Given the description of an element on the screen output the (x, y) to click on. 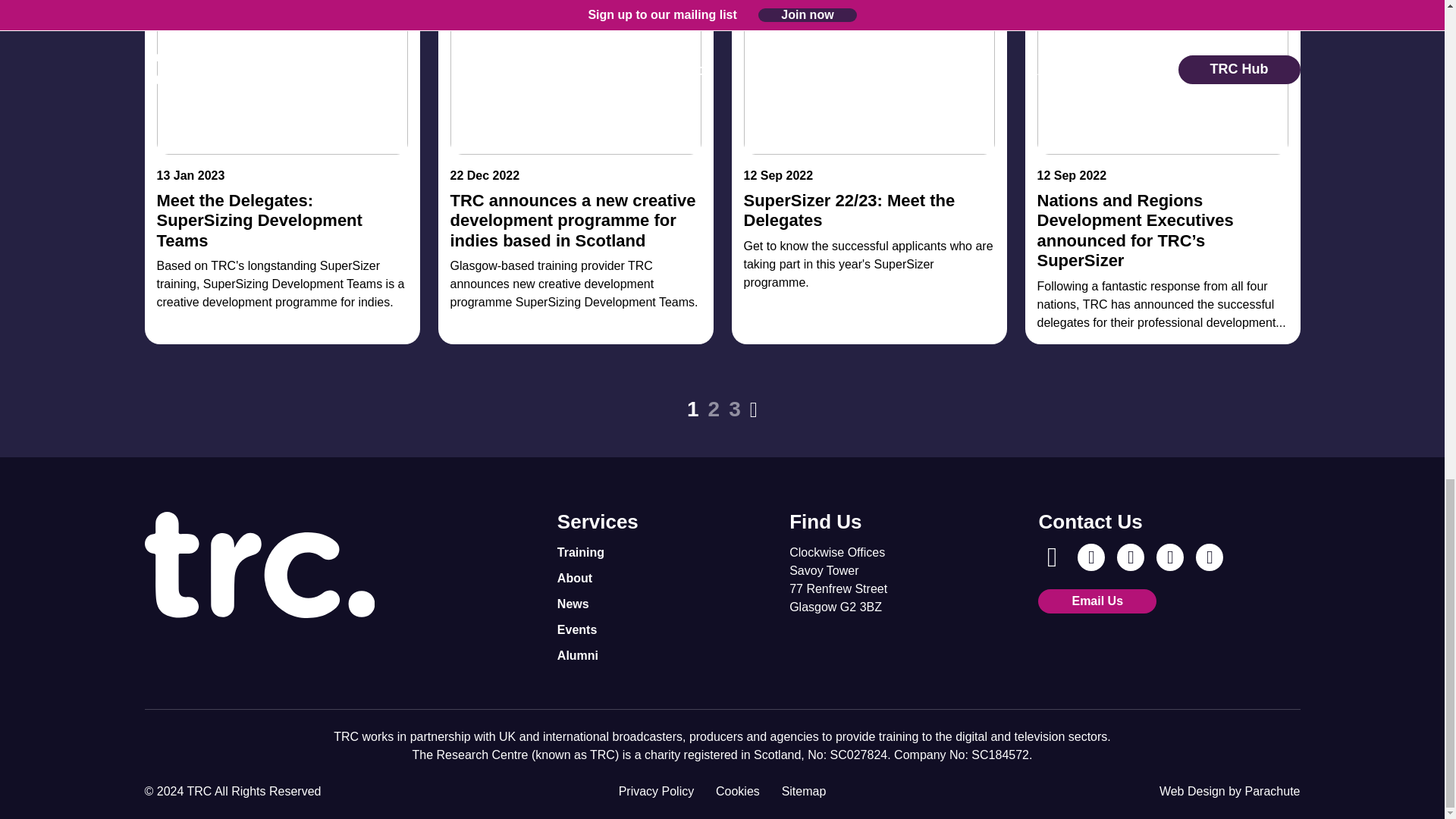
TRC Media Instagram page (1091, 556)
TRC Media Facebook page (1051, 556)
TRC Media LinkedIn page (1130, 556)
TRC Media Tiktok page (1209, 556)
TRC Media Twitter page (1169, 556)
